Given the description of an element on the screen output the (x, y) to click on. 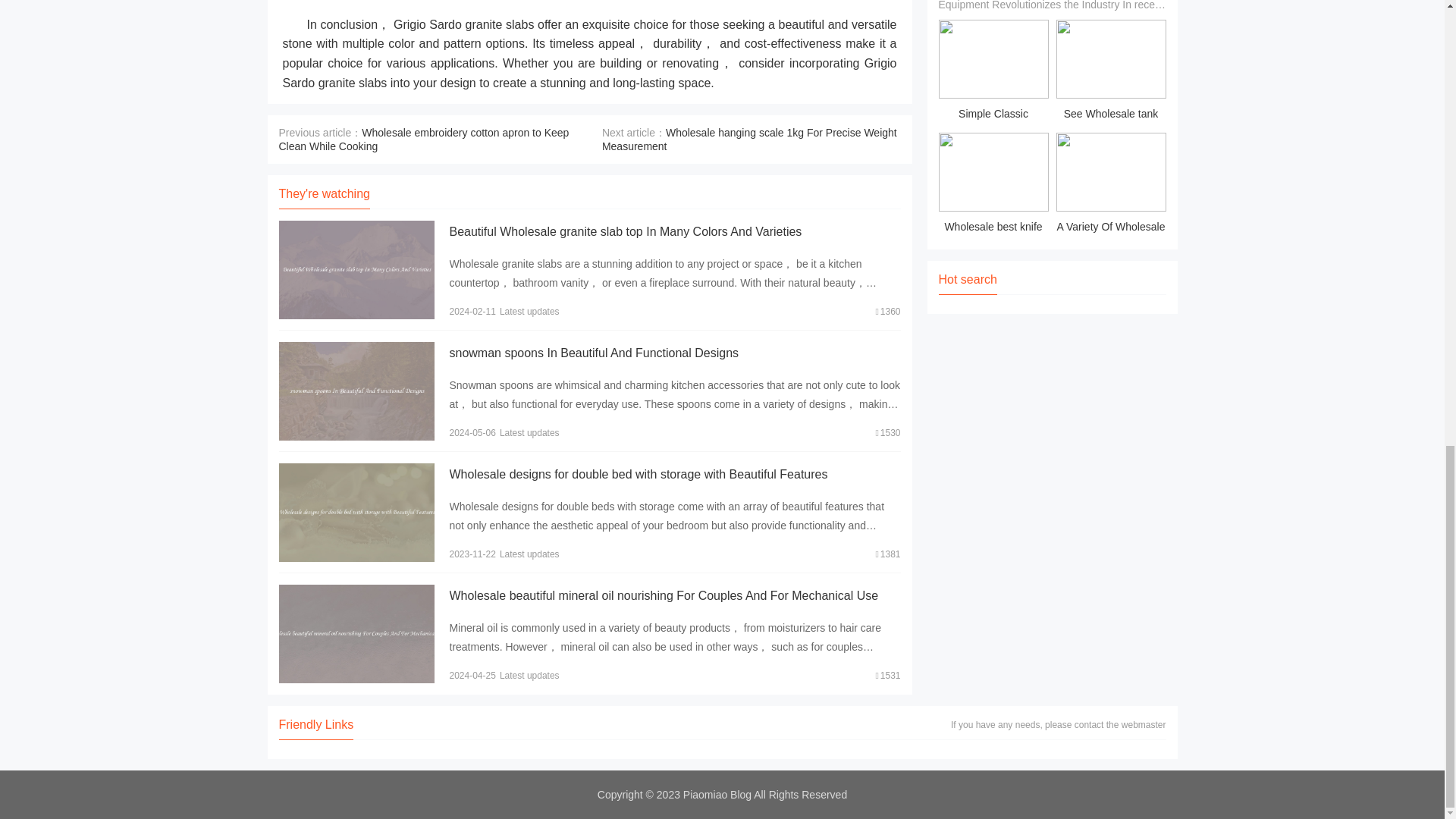
Wholesale hanging scale 1kg For Precise Weight Measurement (749, 139)
snowman spoons In Beautiful And Functional Designs (593, 352)
